Given the description of an element on the screen output the (x, y) to click on. 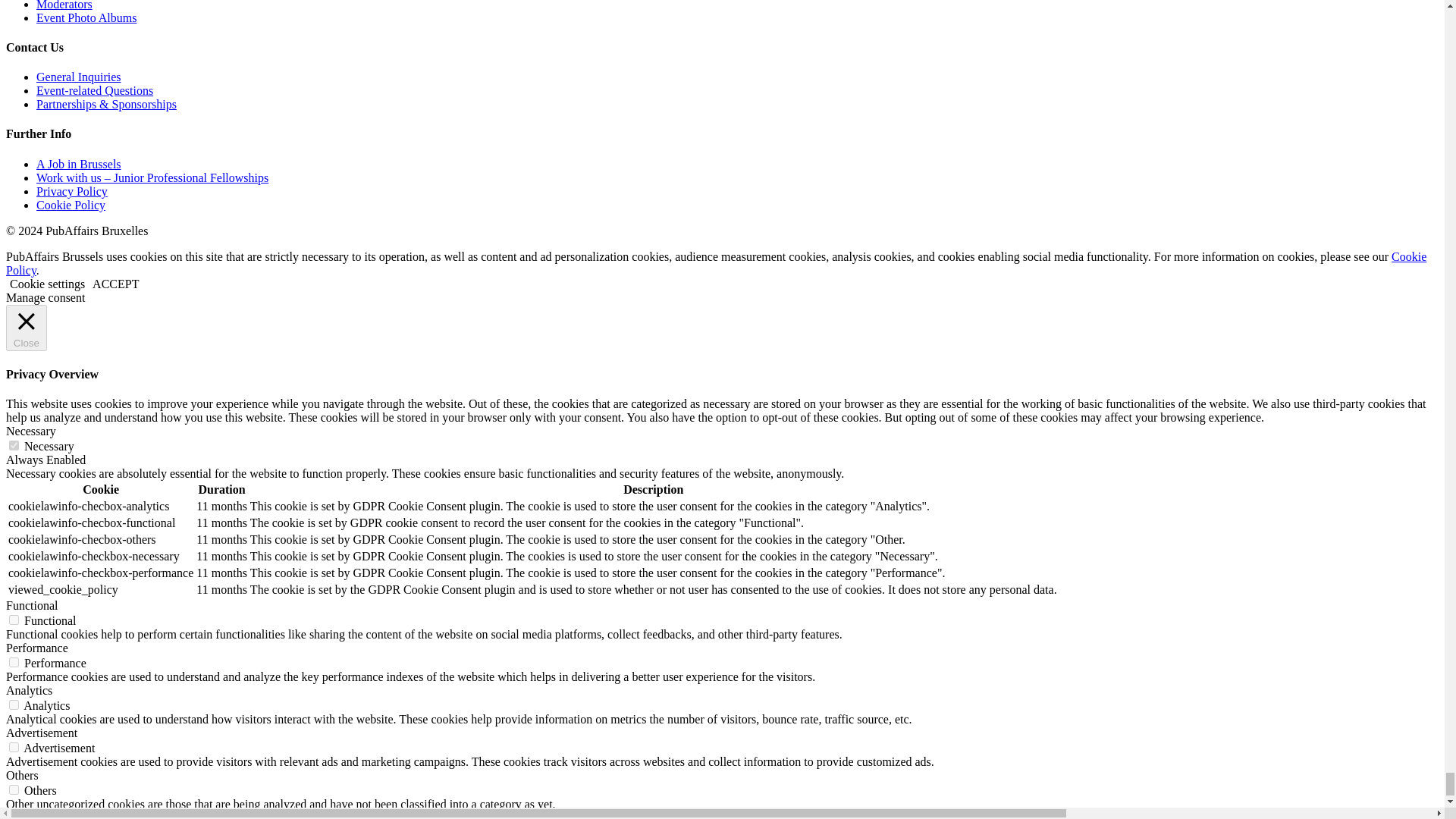
on (13, 662)
on (13, 789)
on (13, 705)
on (13, 619)
on (13, 747)
on (13, 445)
